Given the description of an element on the screen output the (x, y) to click on. 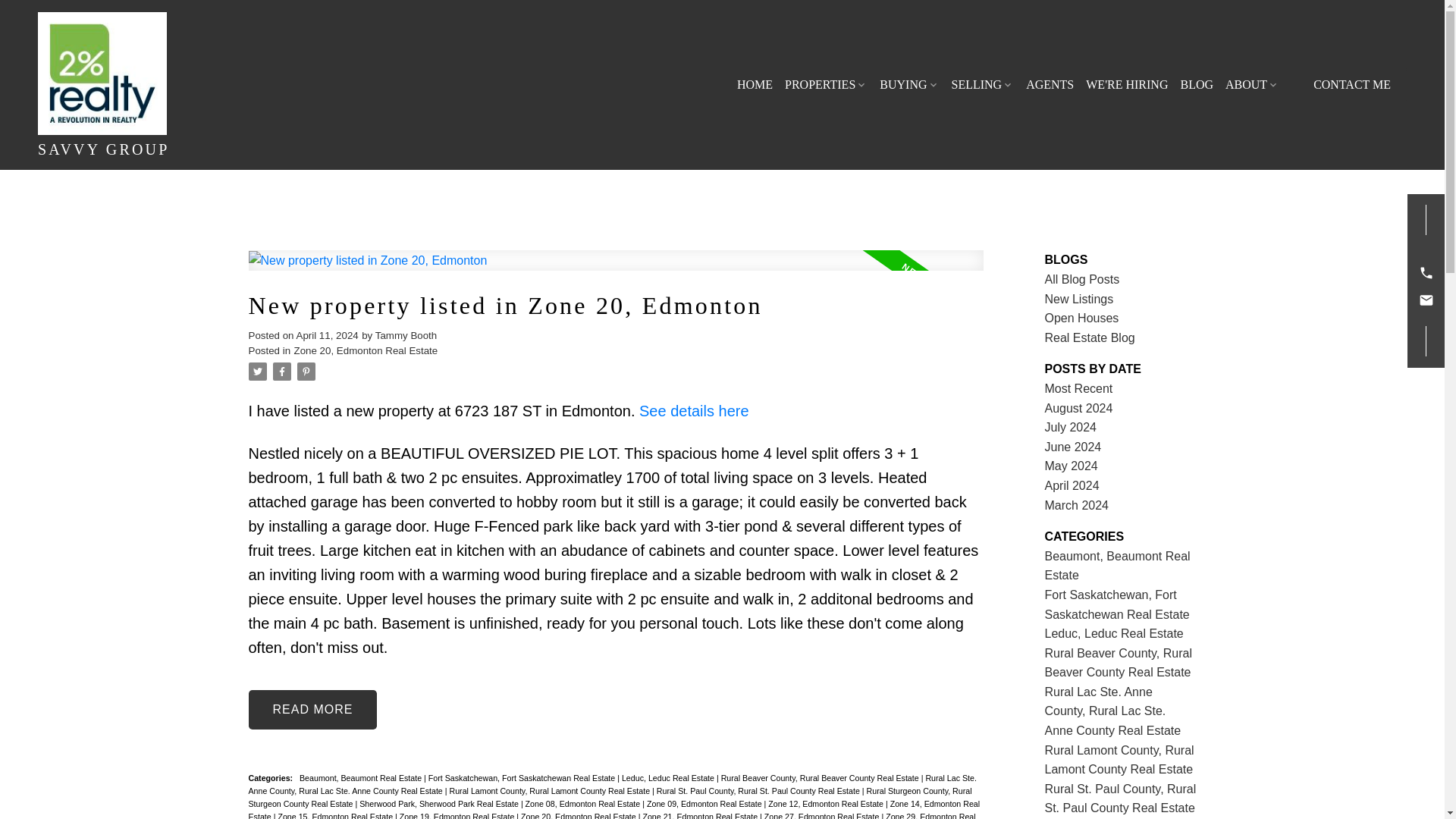
BLOG (1195, 84)
ABOUT (1252, 84)
PROPERTIES (825, 84)
BUYING (909, 84)
AGENTS (1050, 84)
HOME (754, 84)
WE'RE HIRING (1126, 84)
Read full post (616, 269)
SAVVY GROUP (164, 84)
CONTACT ME (1351, 84)
